Given the description of an element on the screen output the (x, y) to click on. 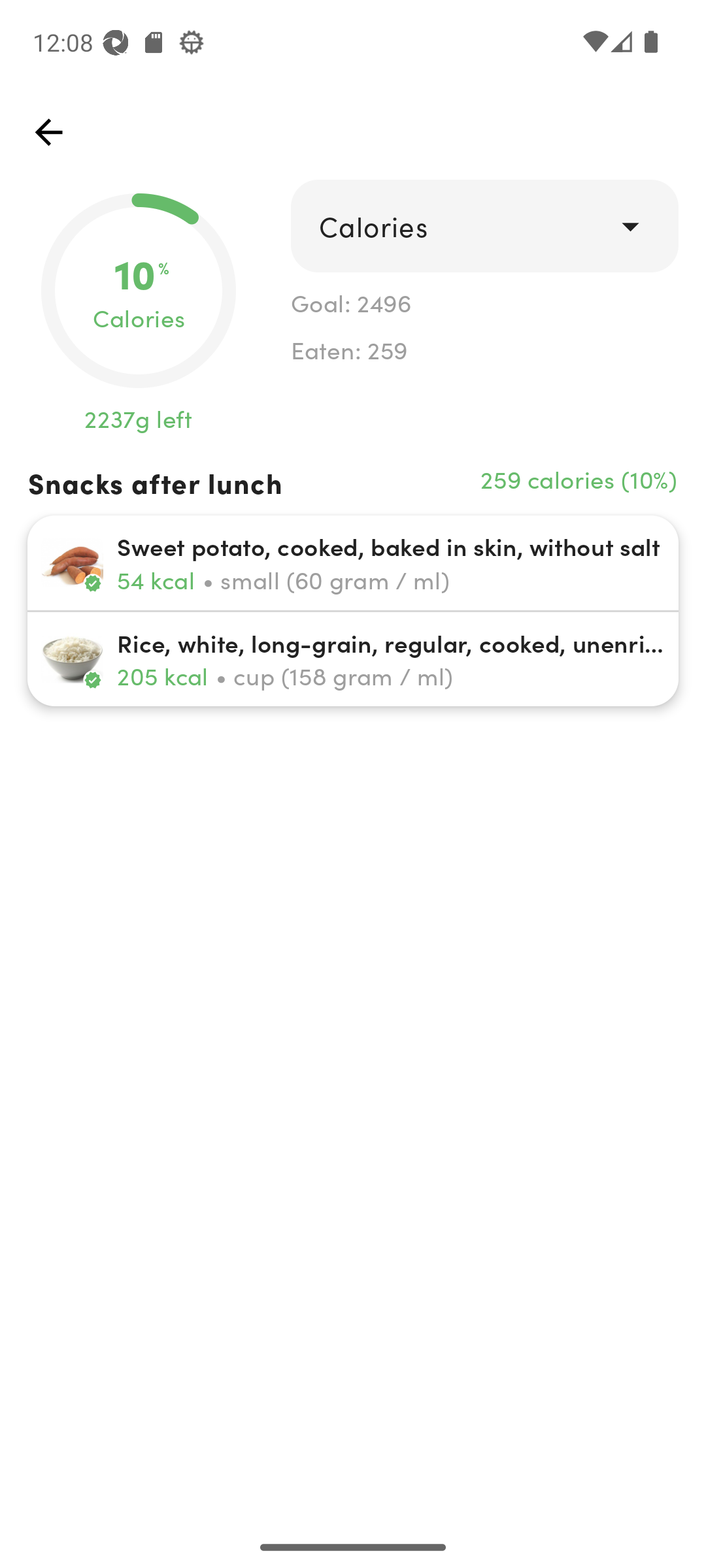
top_left_action (48, 132)
drop_down Calories (484, 226)
